Given the description of an element on the screen output the (x, y) to click on. 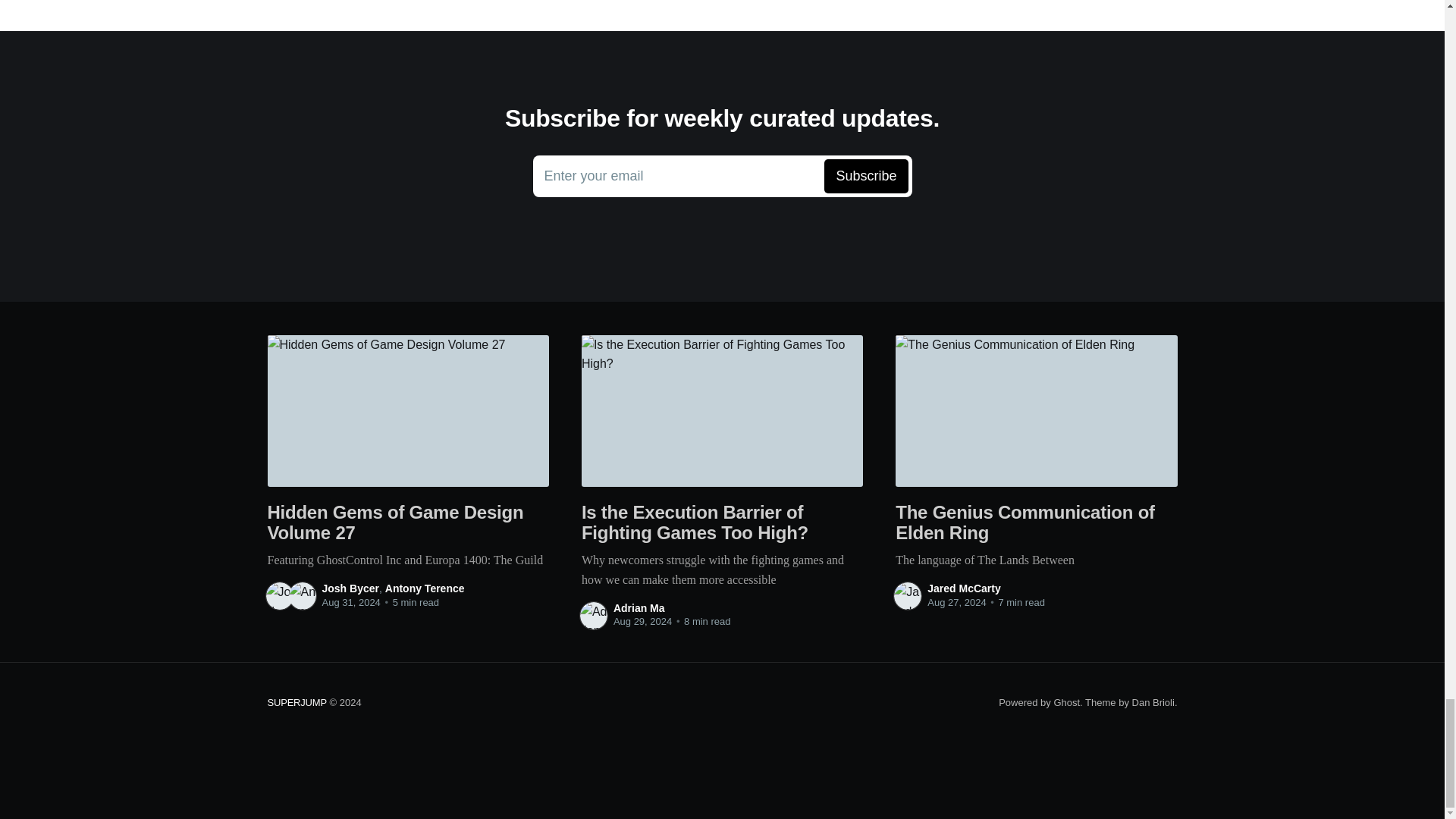
Antony Terence (424, 588)
Jared McCarty (721, 176)
Adrian Ma (964, 588)
Ghost (638, 607)
SUPERJUMP (1066, 702)
Dan Brioli (296, 702)
Josh Bycer (1153, 702)
